Given the description of an element on the screen output the (x, y) to click on. 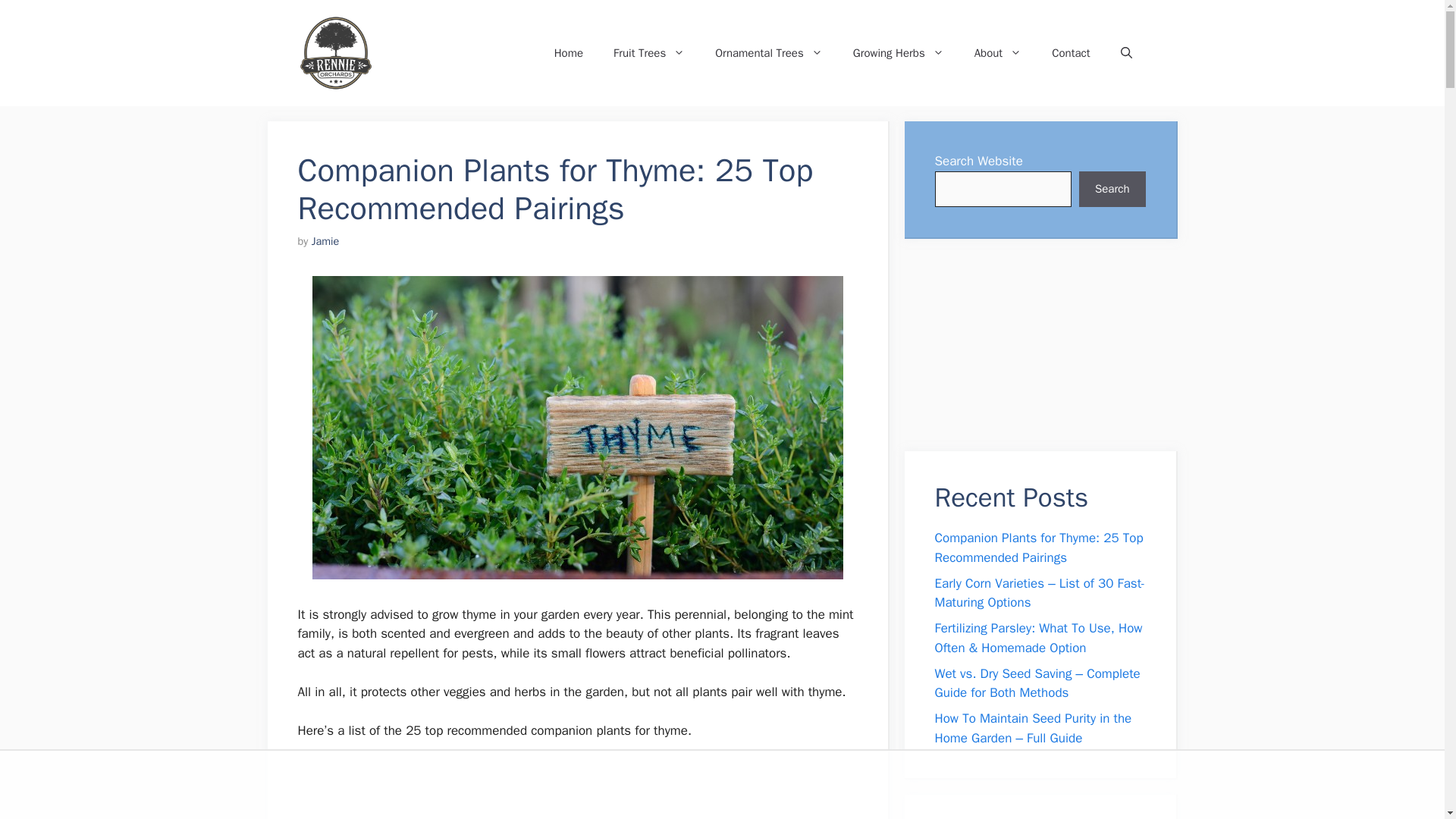
View all posts by Jamie (325, 241)
Ornamental Trees (769, 53)
Home (568, 53)
About (997, 53)
Rennie Orchards (455, 52)
Fruit Trees (649, 53)
Growing Herbs (898, 53)
Contact (1070, 53)
